Given the description of an element on the screen output the (x, y) to click on. 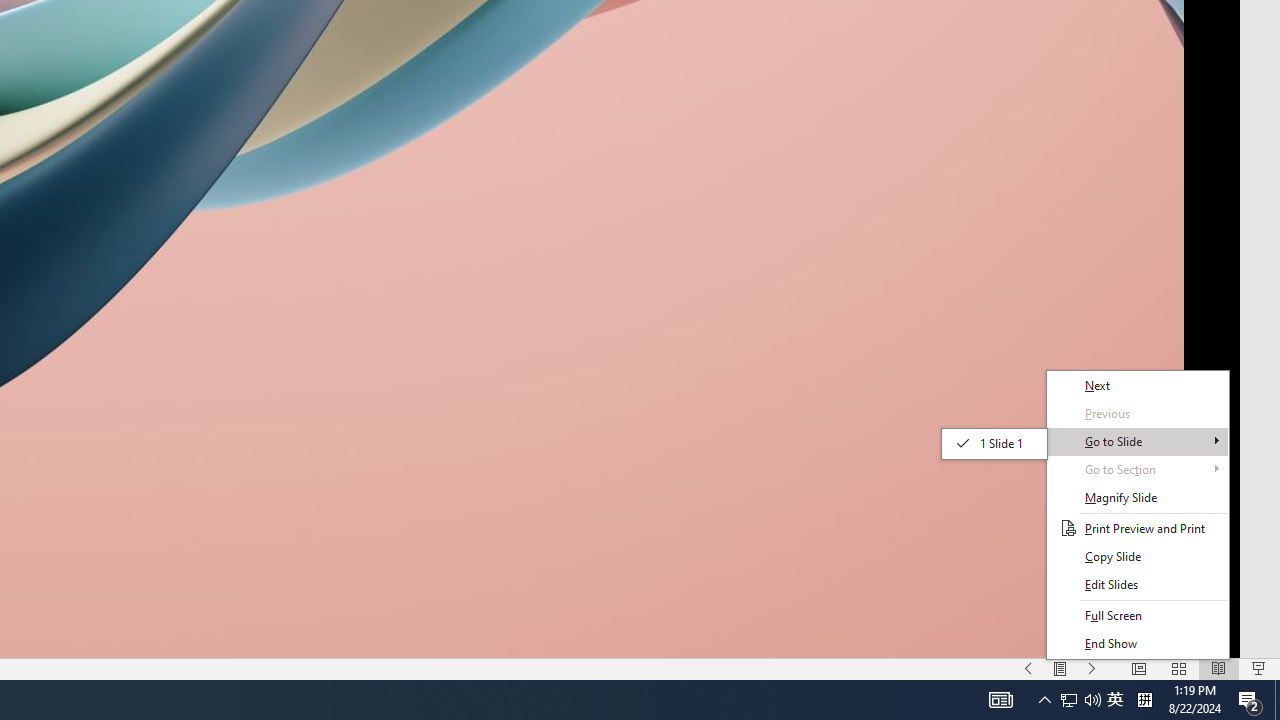
End Show (1137, 644)
AutomationID: 4105 (1069, 699)
User Promoted Notification Area (1000, 699)
Q2790: 100% (1080, 699)
Copy Slide (1115, 699)
Notification Chevron (1092, 699)
Magnify Slide (1137, 556)
